Given the description of an element on the screen output the (x, y) to click on. 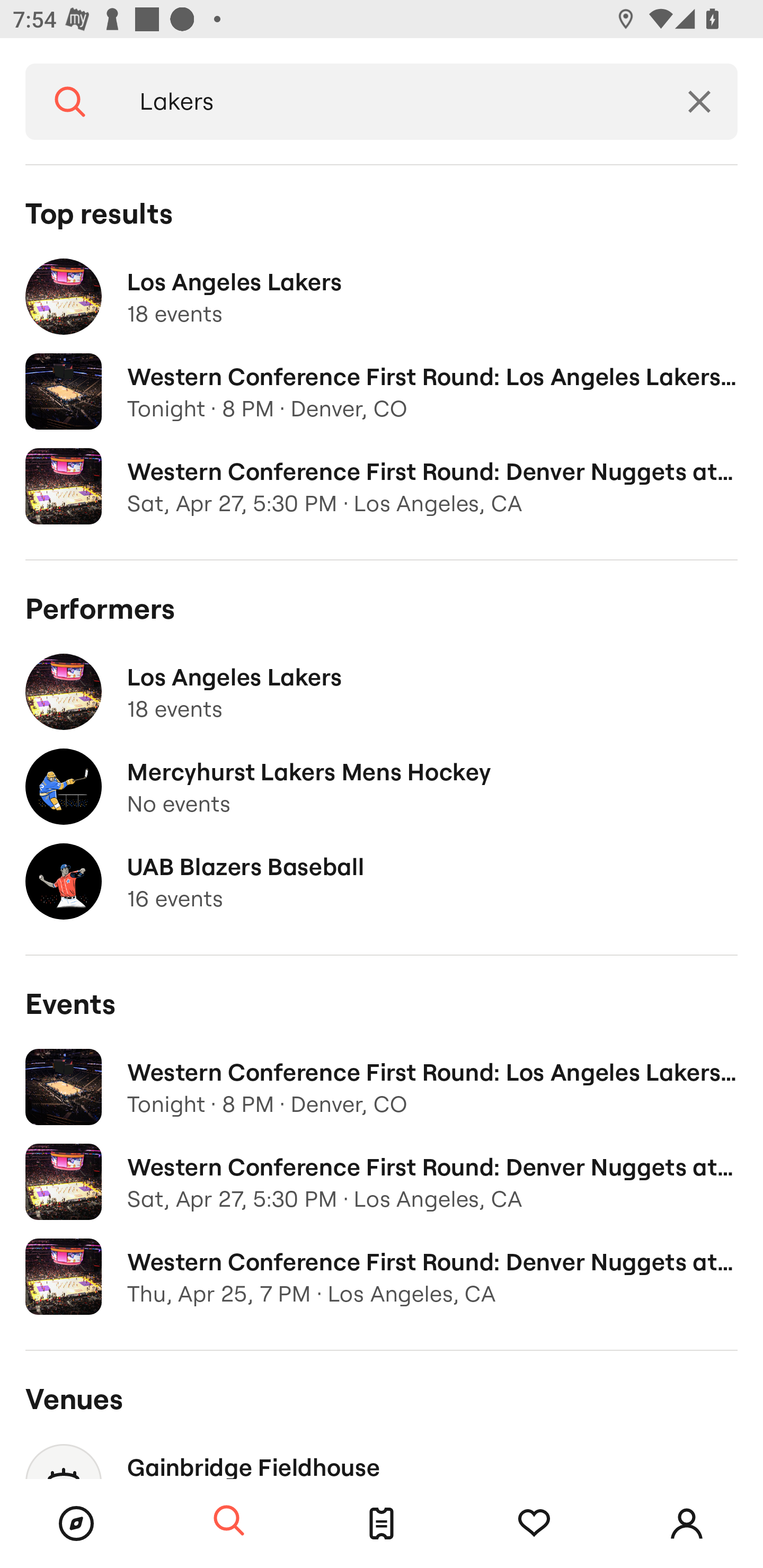
Search (69, 101)
Lakers (387, 101)
Clear (699, 101)
Los Angeles Lakers 18 events (381, 296)
Los Angeles Lakers 18 events (381, 692)
Mercyhurst Lakers Mens Hockey No events (381, 787)
UAB Blazers Baseball 16 events (381, 881)
Browse (76, 1523)
Search (228, 1521)
Tickets (381, 1523)
Tracking (533, 1523)
Account (686, 1523)
